Given the description of an element on the screen output the (x, y) to click on. 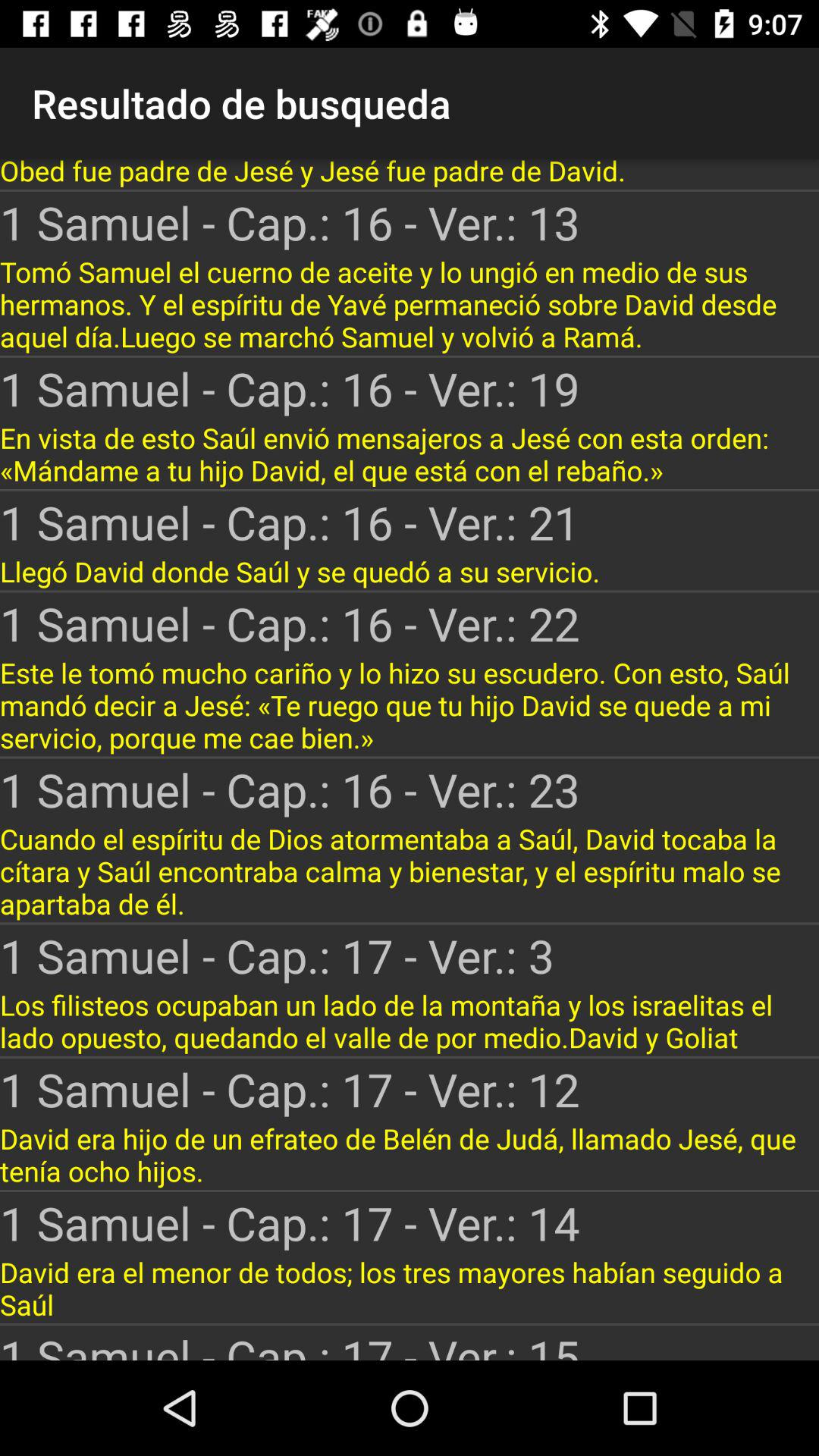
turn on the item above the 1 samuel cap app (409, 705)
